Given the description of an element on the screen output the (x, y) to click on. 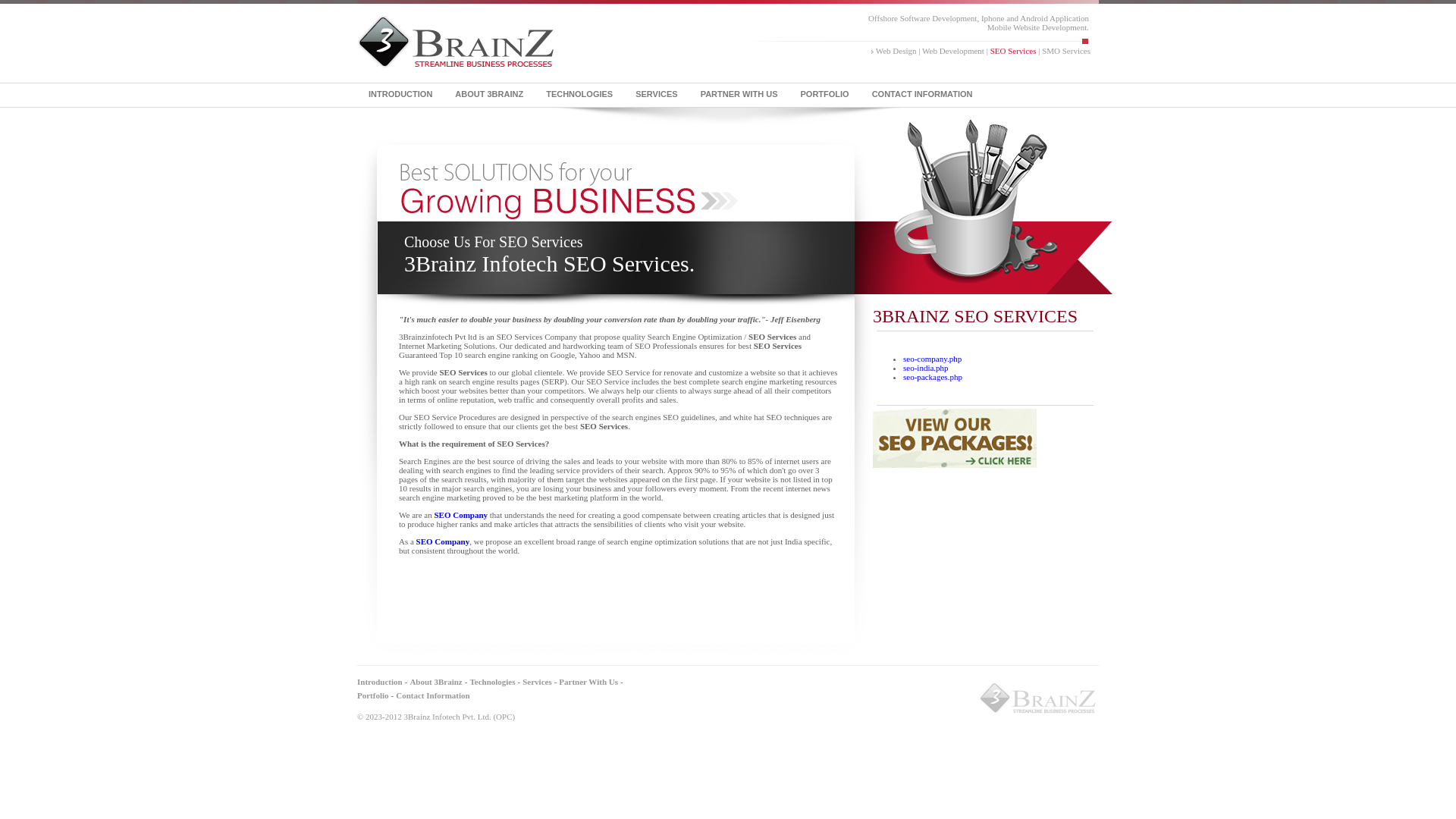
Web Development Element type: text (953, 50)
About 3Brainz Element type: text (435, 681)
PARTNER WITH US Element type: text (739, 86)
ABOUT 3BRAINZ Element type: text (488, 86)
Introduction Element type: text (379, 681)
SEO Services Element type: text (1013, 50)
Contact Information Element type: text (432, 694)
seo-company.php Element type: text (932, 358)
SEO Company Element type: text (443, 541)
INTRODUCTION Element type: text (400, 86)
seo-packages.php Element type: text (932, 376)
Partner With Us Element type: text (588, 681)
SEO Company Element type: text (460, 514)
Portfolio Element type: text (373, 694)
TECHNOLOGIES Element type: text (579, 86)
Services Element type: text (536, 681)
seo-india.php Element type: text (925, 367)
SERVICES Element type: text (656, 86)
CONTACT INFORMATION Element type: text (922, 86)
PORTFOLIO Element type: text (823, 86)
Web Design Element type: text (895, 50)
Technologies Element type: text (491, 681)
SMO Services Element type: text (1065, 50)
